Given the description of an element on the screen output the (x, y) to click on. 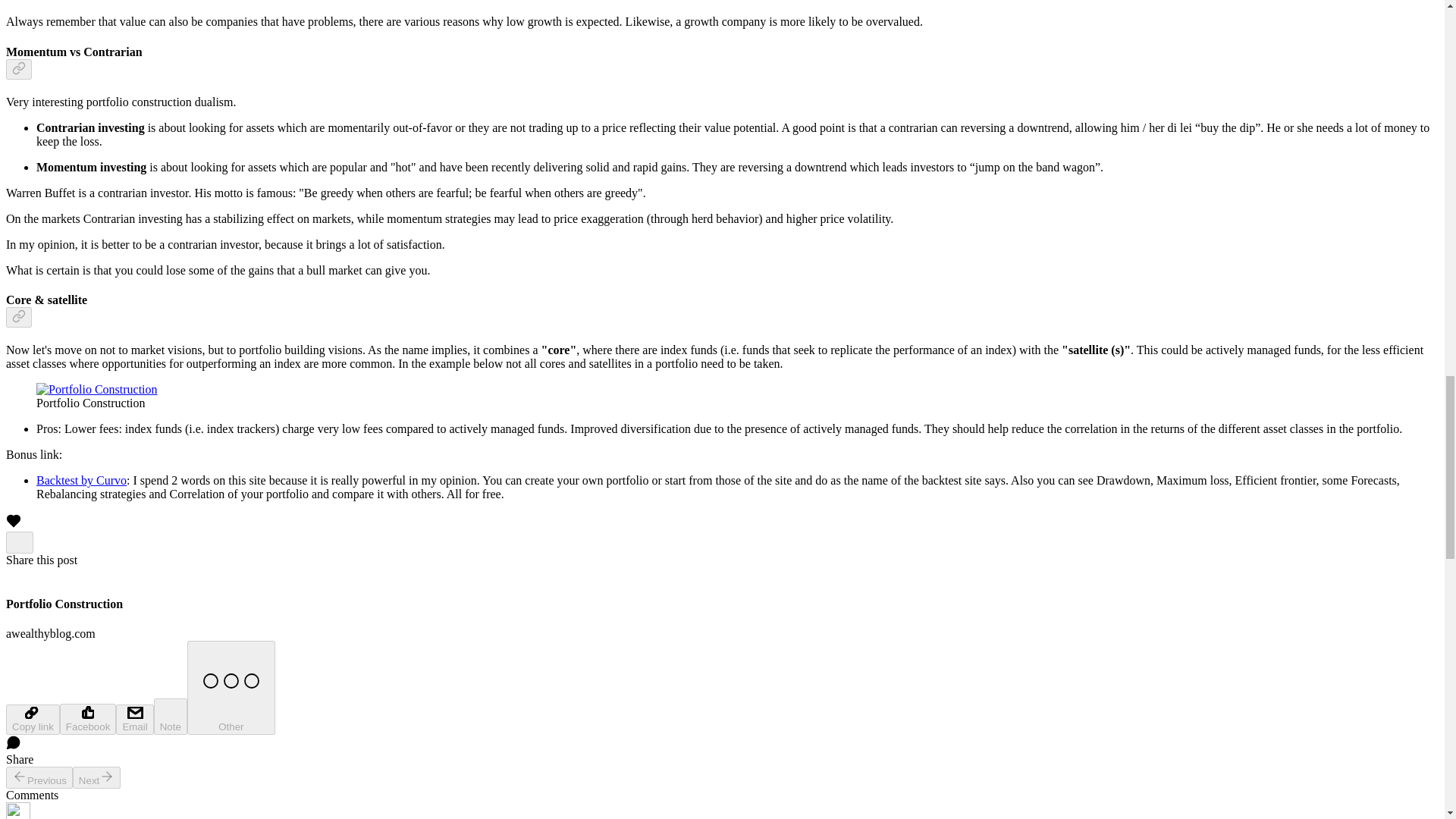
Portfolio Construction (96, 389)
Facebook (87, 718)
Backtest by Curvo (81, 480)
Copy link (32, 719)
Note (170, 716)
Email (134, 719)
